Given the description of an element on the screen output the (x, y) to click on. 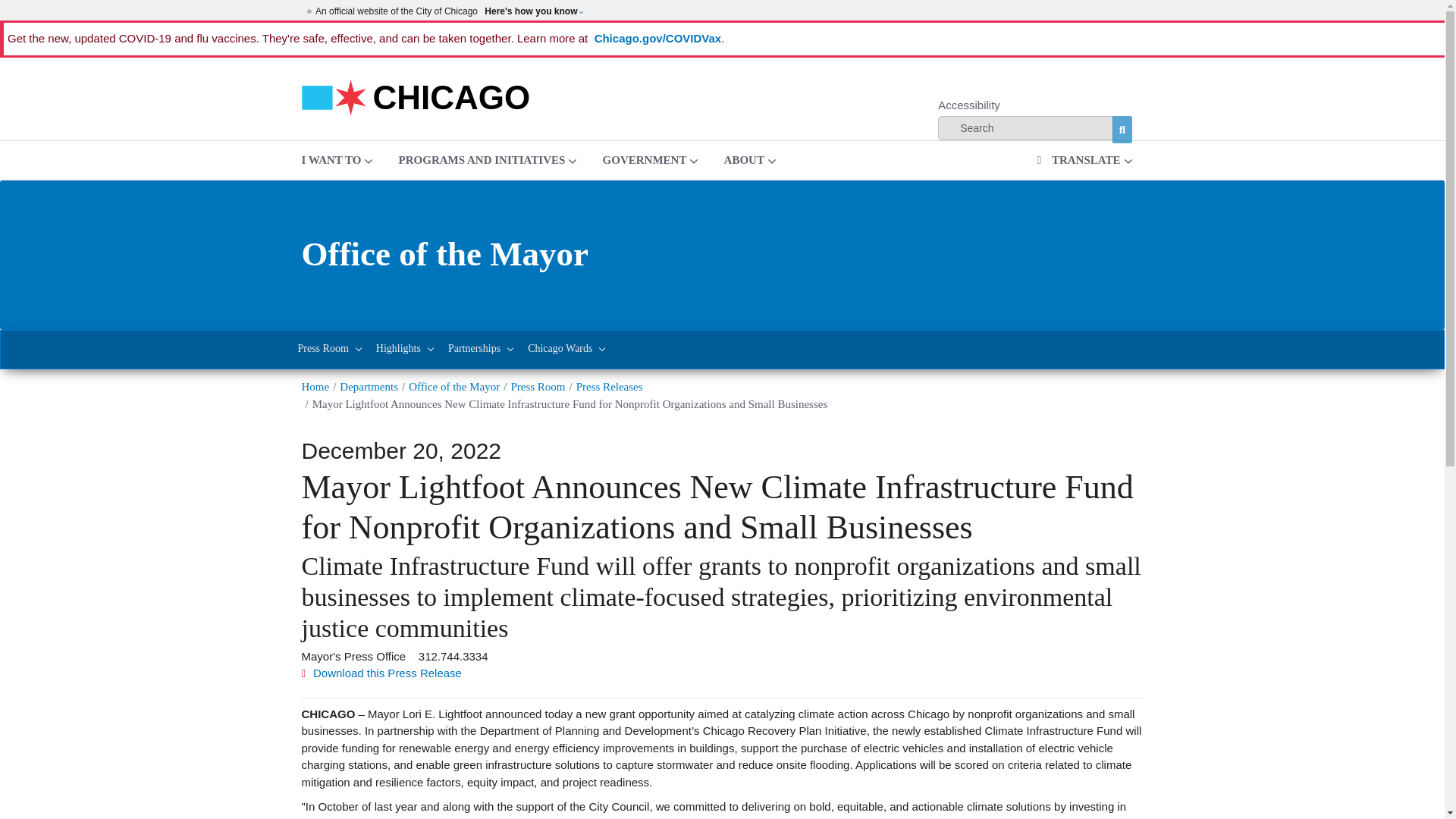
Programs and Initiatives (487, 159)
CHICAGO (416, 94)
GOVERNMENT (650, 159)
PROGRAMS AND INITIATIVES (487, 159)
Home (416, 94)
Here's how you know (533, 11)
Government (650, 159)
I WANT TO (336, 159)
